Given the description of an element on the screen output the (x, y) to click on. 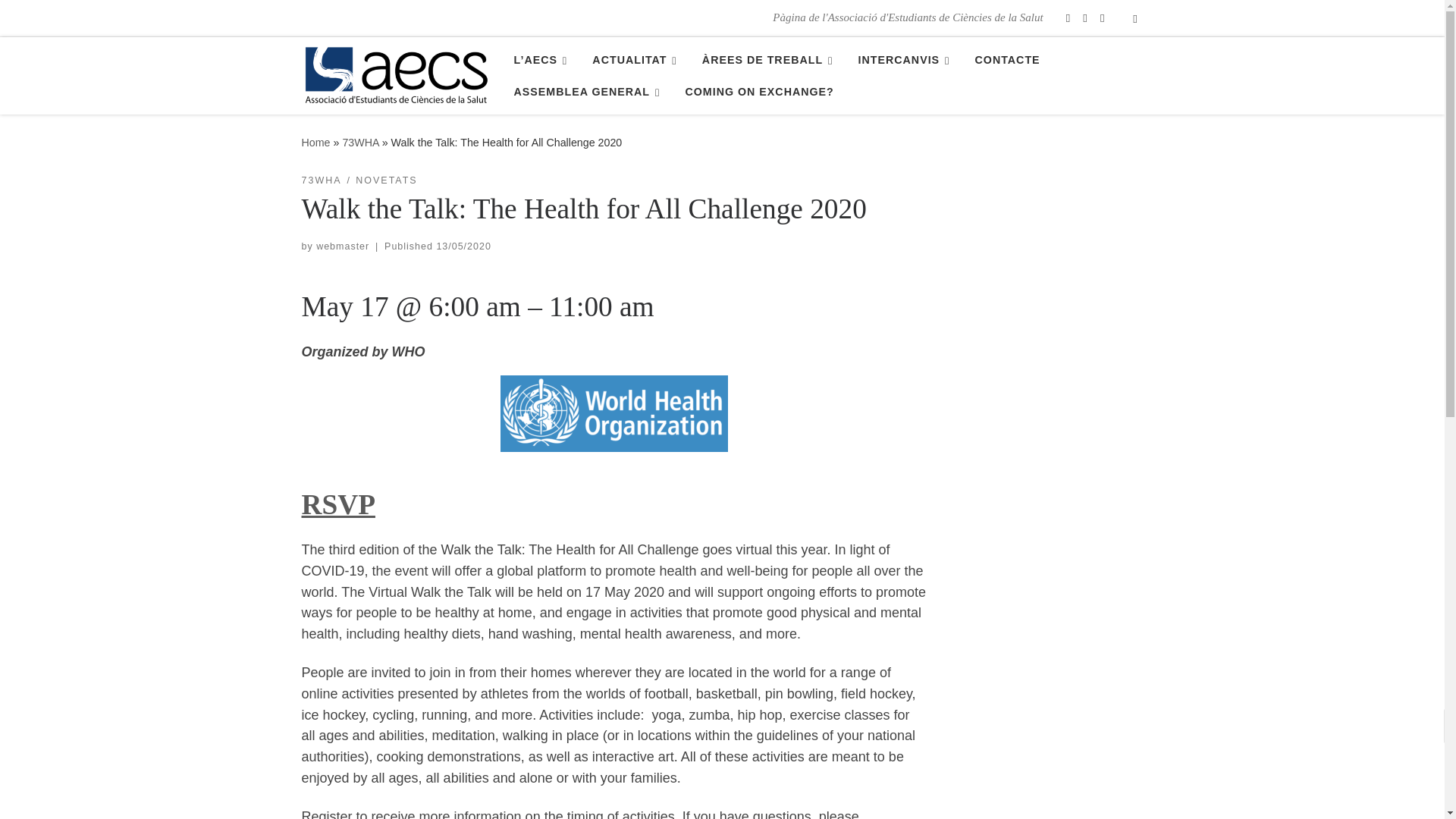
73WHA (360, 142)
19:13 (462, 245)
View all posts in 73WHA (321, 180)
Search (1135, 18)
View all posts by webmaster (342, 245)
View all posts in Novetats (385, 180)
ACTUALITAT (637, 60)
Skip to content (60, 20)
AECS (315, 142)
